Given the description of an element on the screen output the (x, y) to click on. 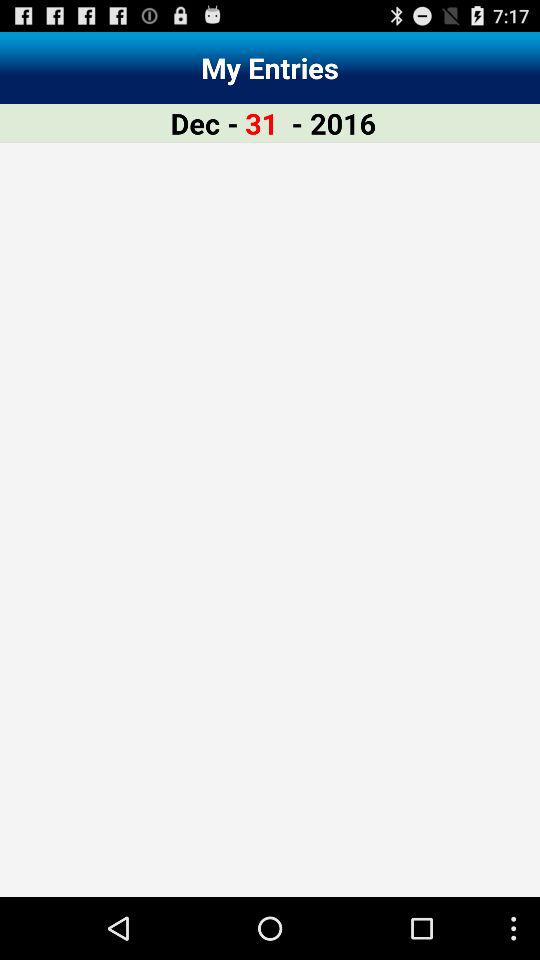
press the dec - icon (204, 122)
